Given the description of an element on the screen output the (x, y) to click on. 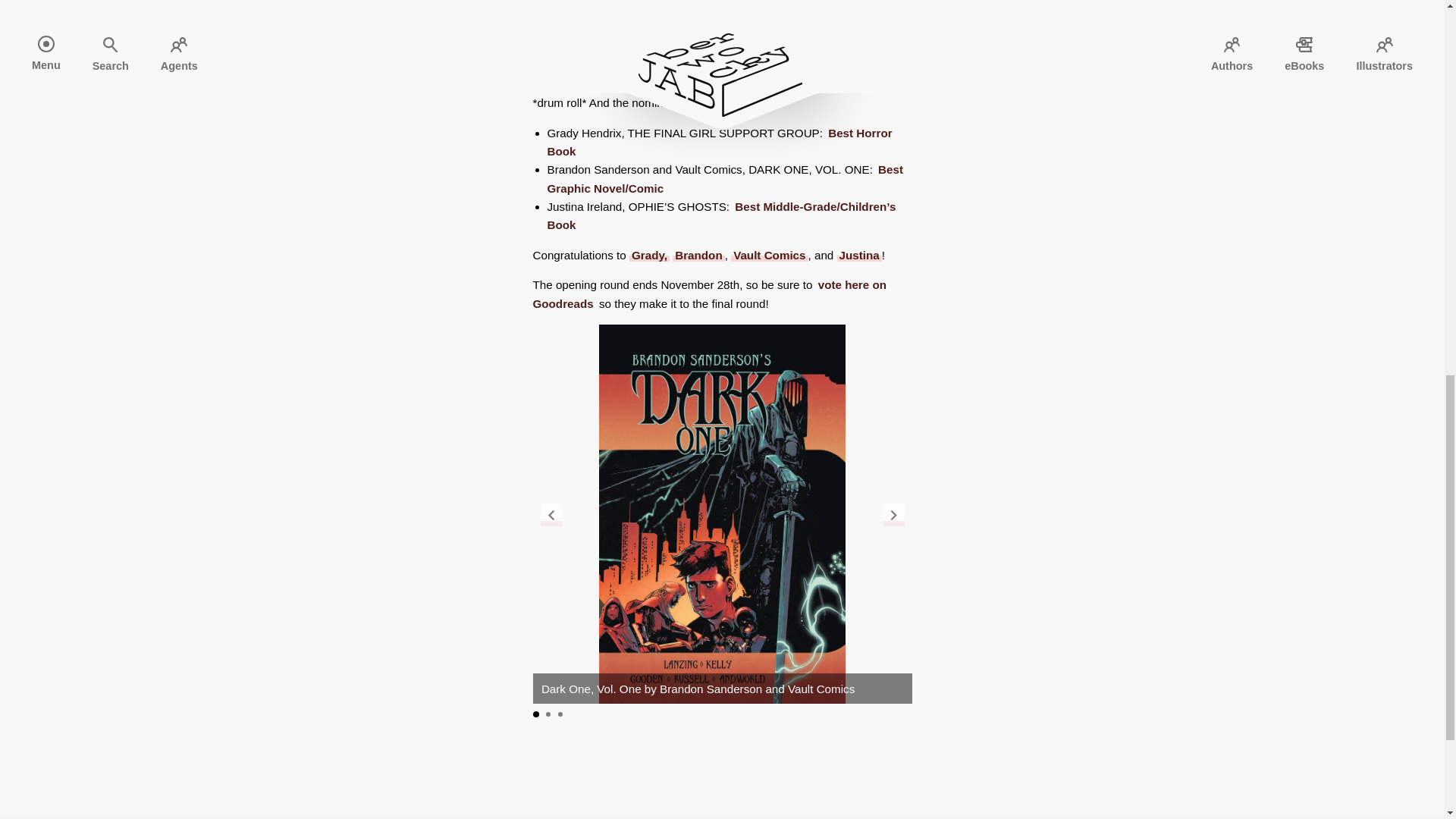
annual Choice Awards, (710, 12)
vote here on Goodreads (709, 293)
Vault Comics (769, 254)
Grady, (648, 254)
Best Horror Book (719, 142)
Justina (859, 254)
Brandon (697, 254)
